Given the description of an element on the screen output the (x, y) to click on. 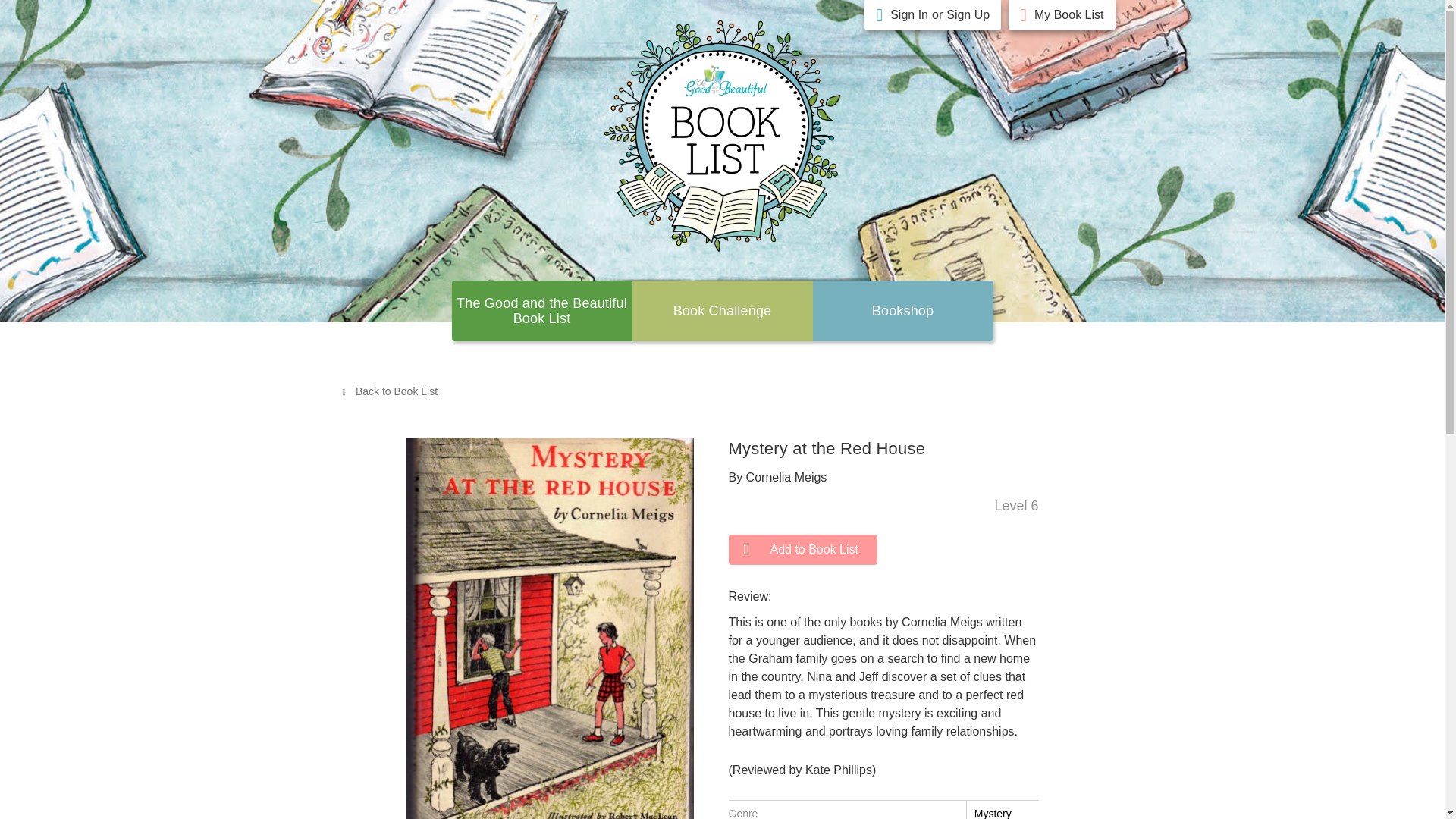
Back to Book List (389, 390)
The Good and the Beautiful Book List (541, 310)
Library (903, 310)
Sign Up (968, 14)
Bookshop (903, 310)
Book Challenge (721, 310)
Sign In (908, 14)
My Book List (1068, 14)
Add to Book List (802, 549)
